Given the description of an element on the screen output the (x, y) to click on. 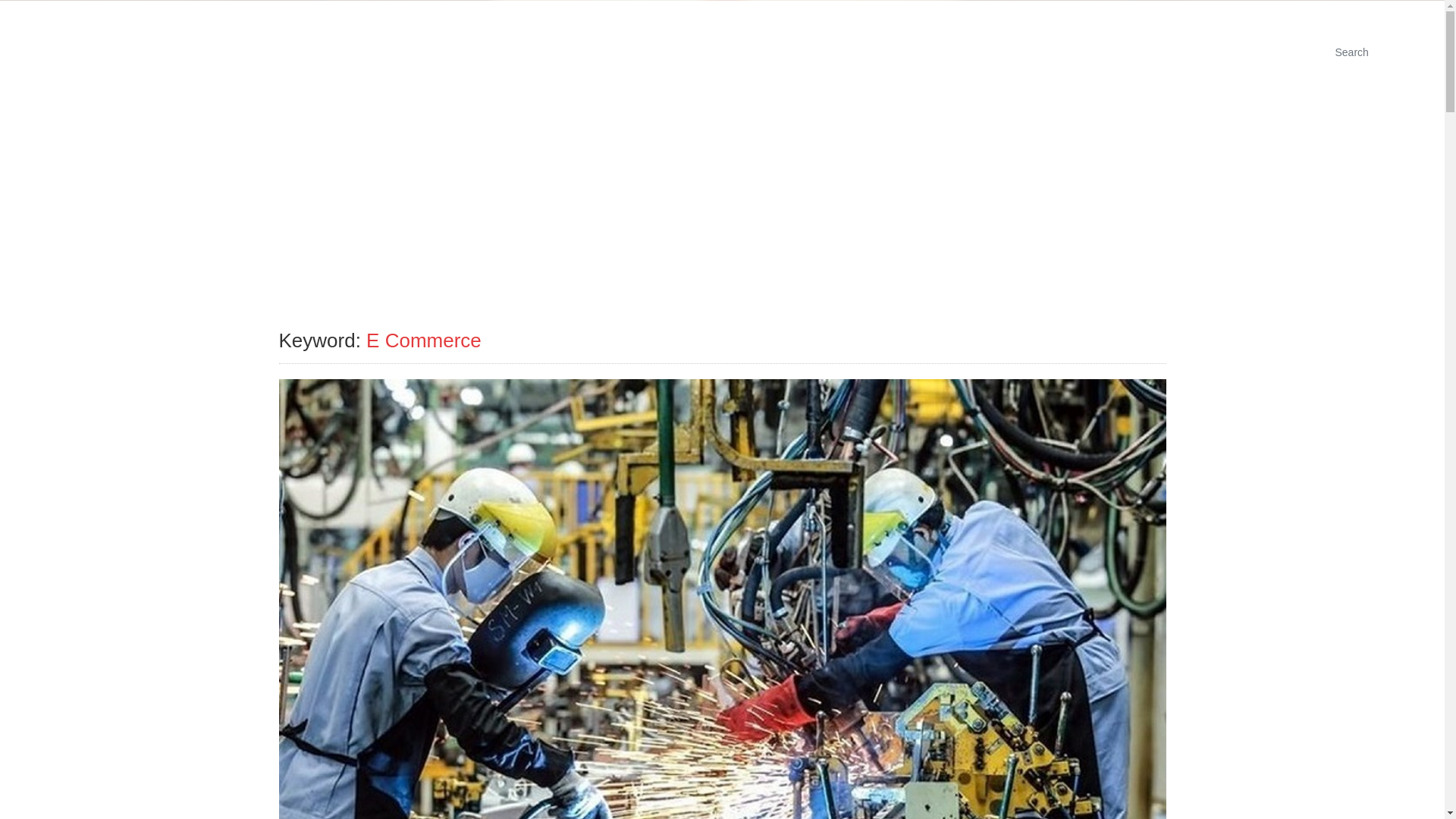
PHOTO (1123, 52)
SEARCH (739, 206)
English (1219, 14)
VIDEO (1296, 52)
INFOGRAPHIC (1210, 52)
NEWS (1059, 52)
